Given the description of an element on the screen output the (x, y) to click on. 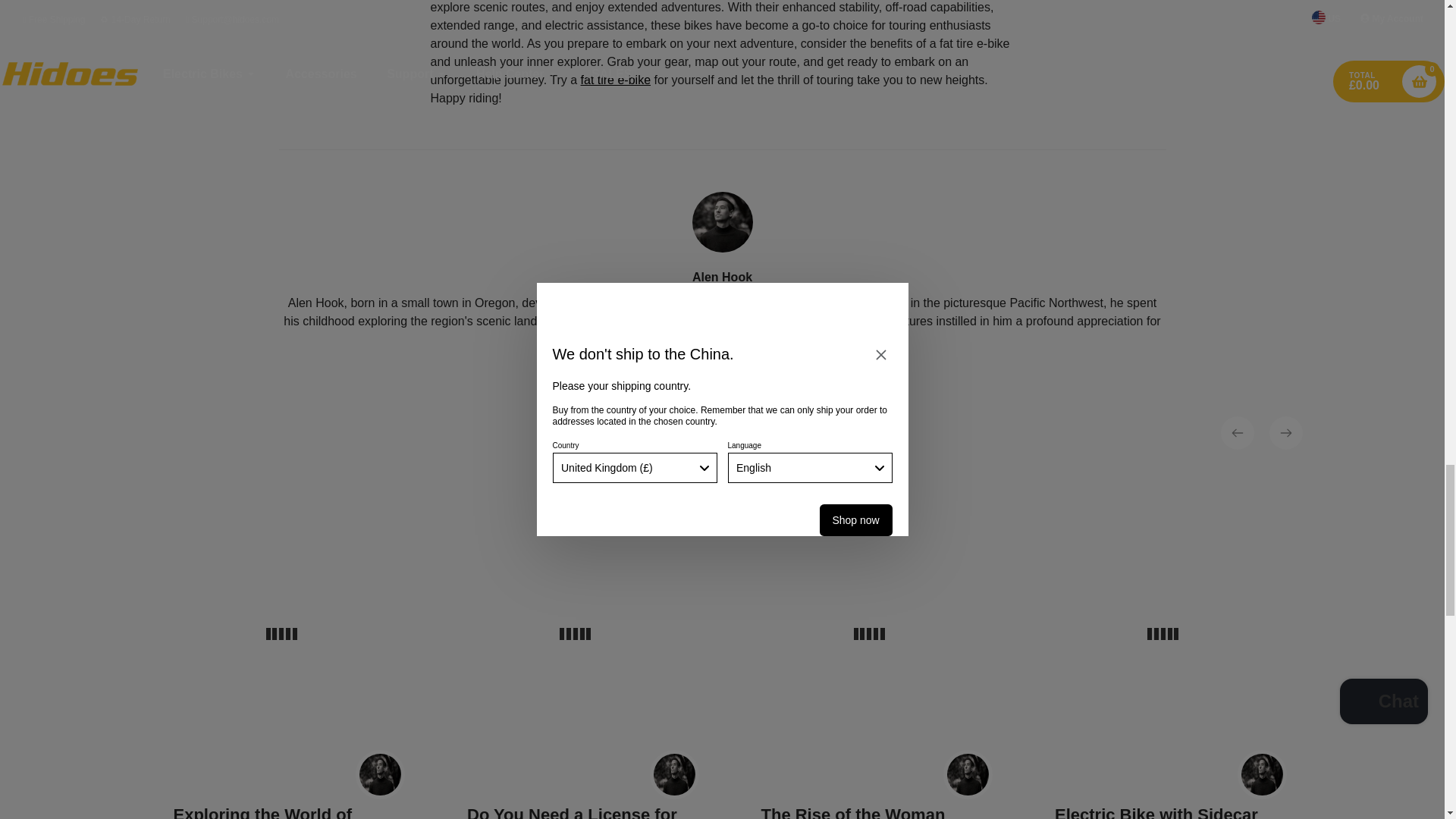
fat tire e-bike (615, 79)
